Given the description of an element on the screen output the (x, y) to click on. 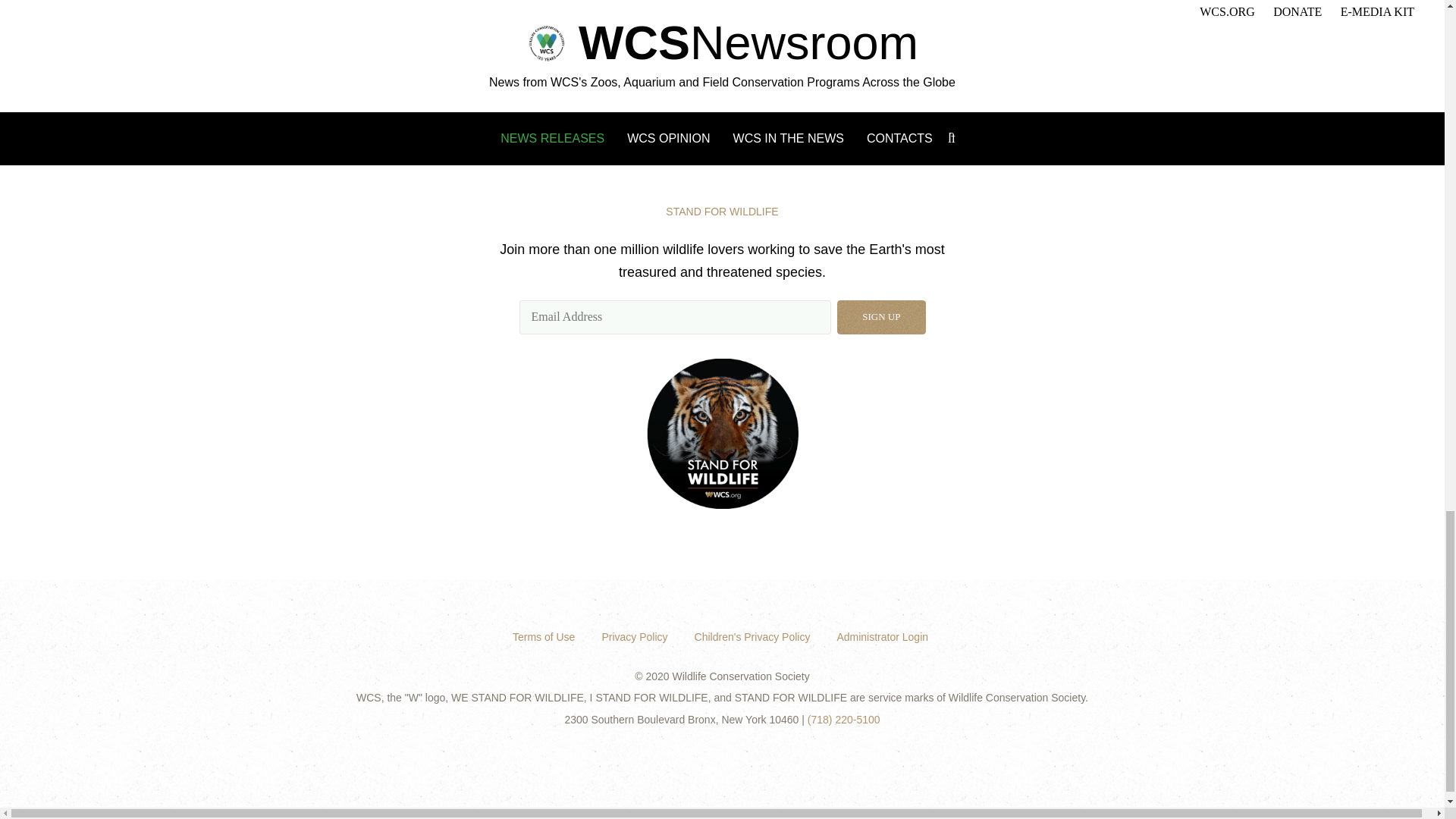
Administrator Login (882, 636)
Privacy Policy (634, 636)
Terms of Use (543, 636)
SIGN UP (880, 317)
Children's Privacy Policy (752, 636)
